Given the description of an element on the screen output the (x, y) to click on. 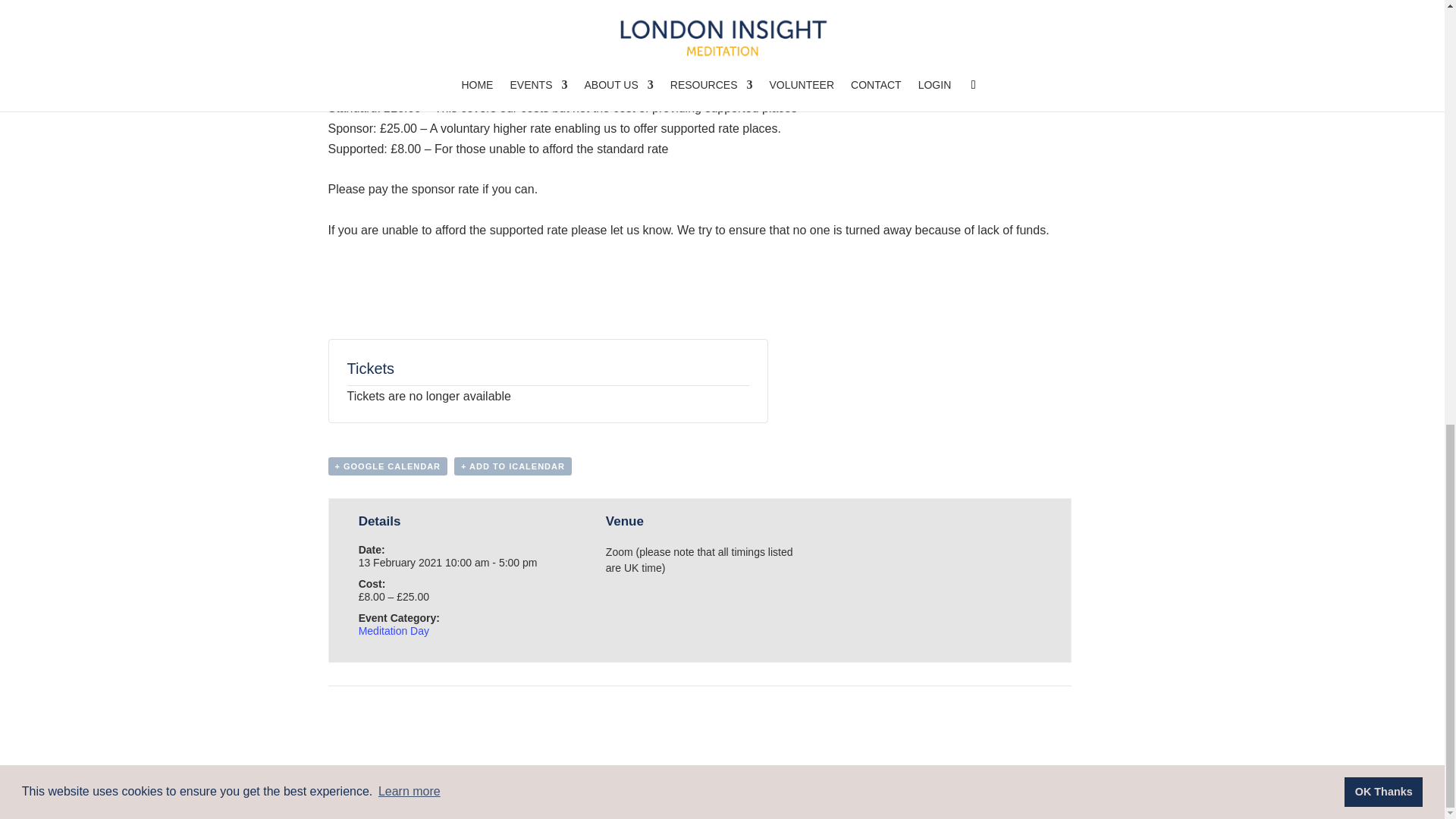
Download .ics file (513, 466)
Add to Google Calendar (386, 466)
